Given the description of an element on the screen output the (x, y) to click on. 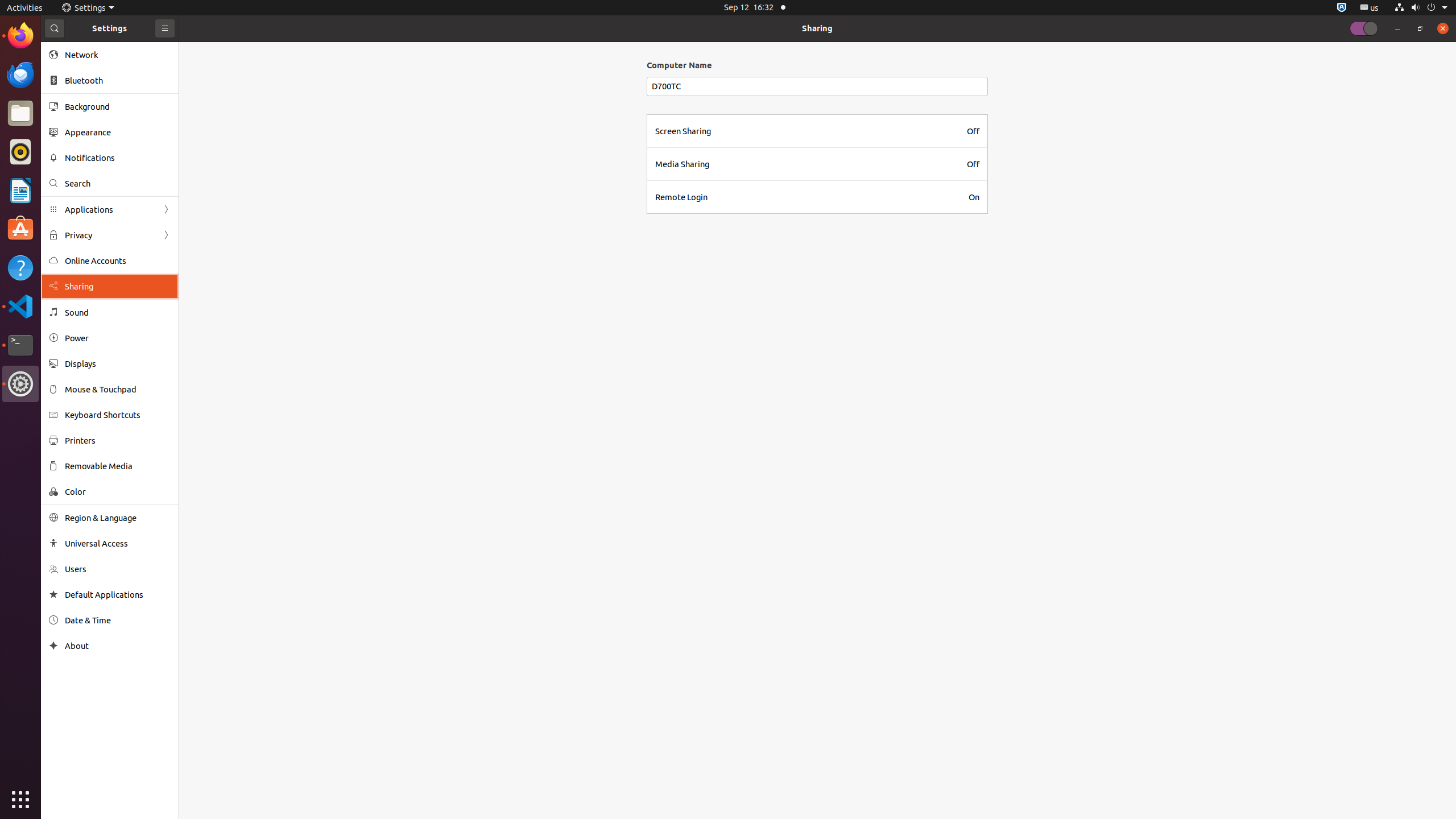
Sharing Element type: label (817, 27)
Trash Element type: label (75, 108)
Screen Sharing Element type: label (682, 130)
About Element type: label (117, 645)
Date & Time Element type: label (117, 620)
